Given the description of an element on the screen output the (x, y) to click on. 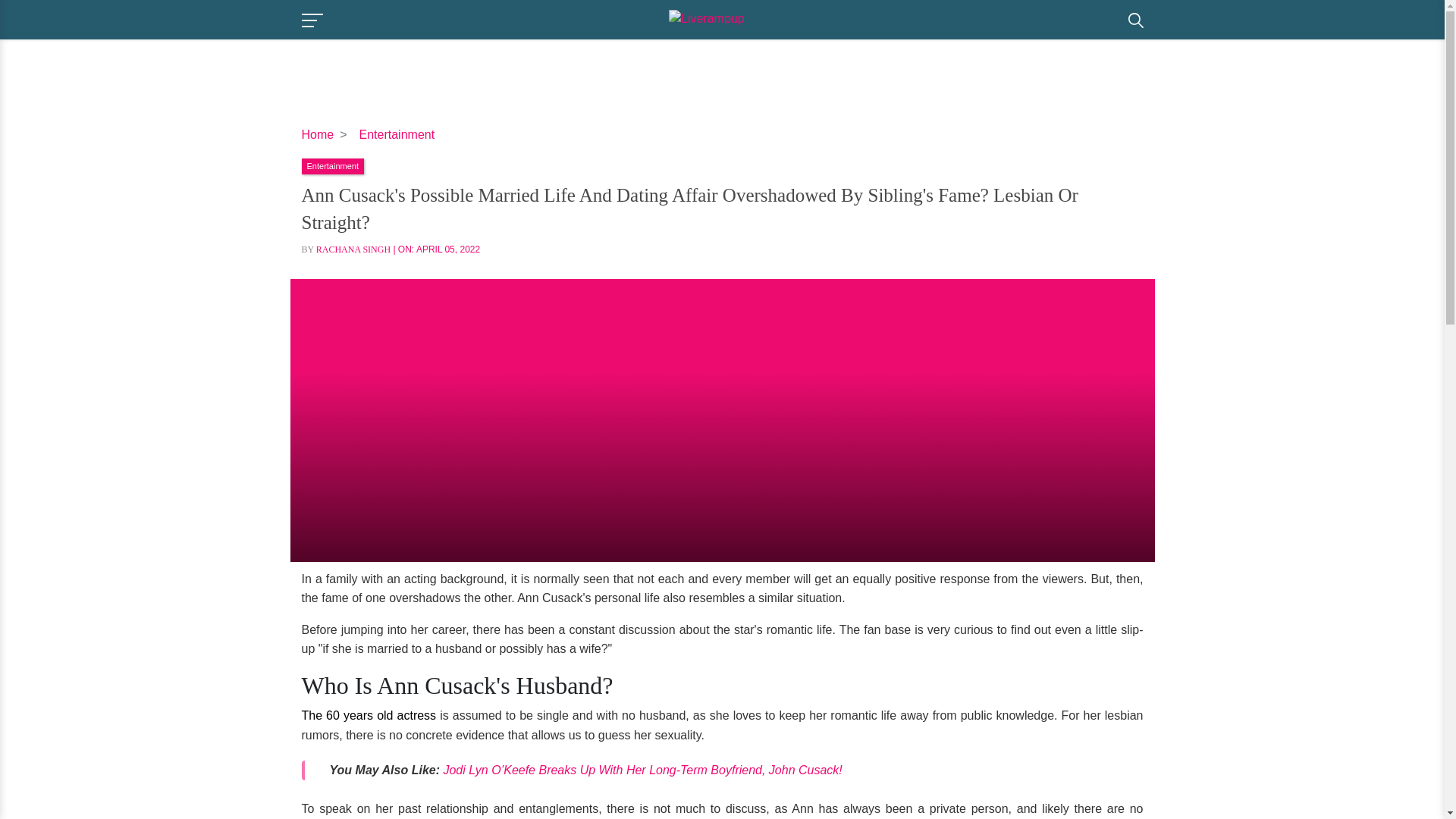
Liverampup (725, 17)
RACHANA SINGH (352, 249)
Entertainment (332, 164)
Home (317, 133)
Entertainment (397, 133)
